Given the description of an element on the screen output the (x, y) to click on. 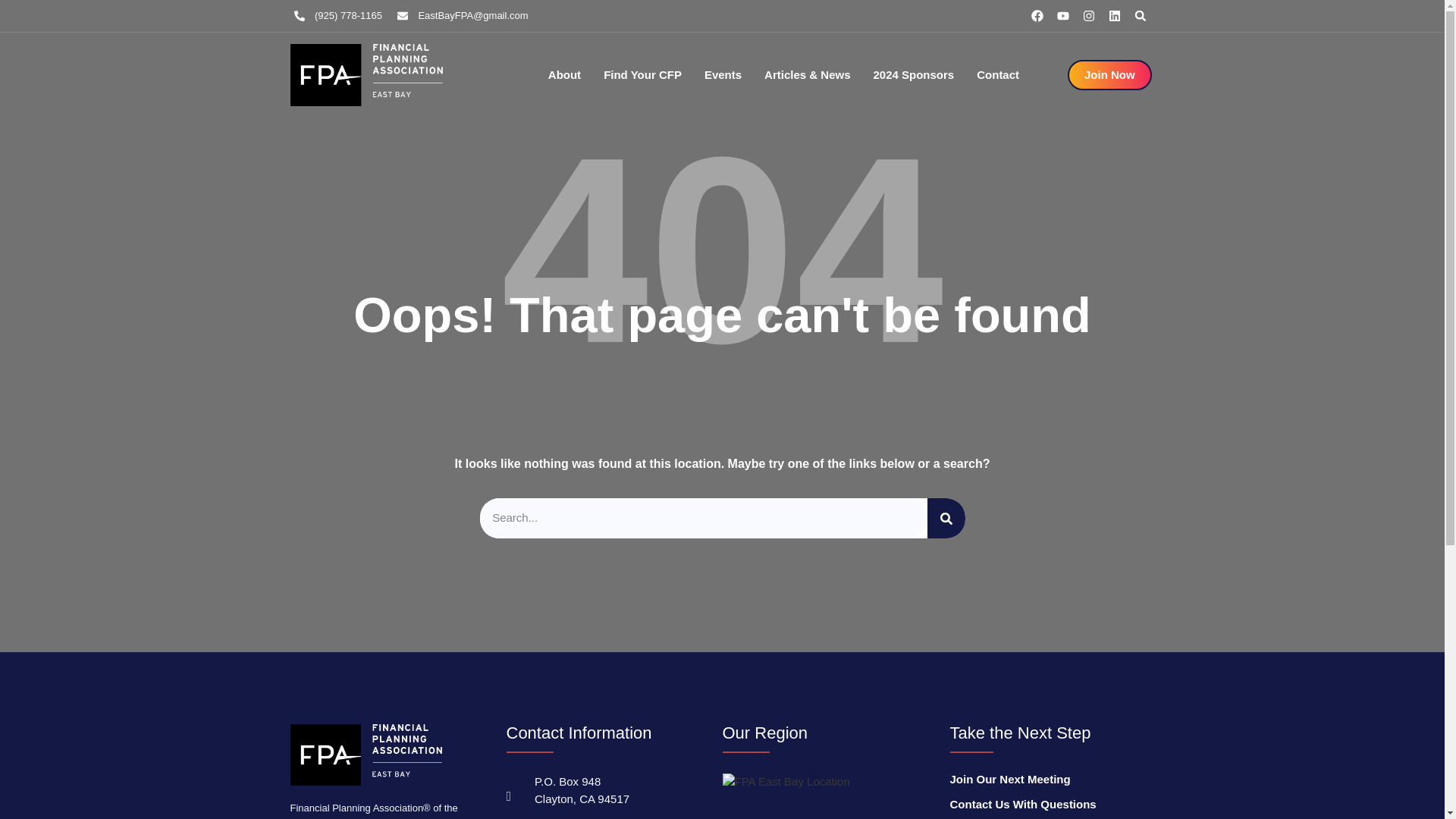
About (564, 74)
Find Your CFP (642, 74)
Events (722, 74)
FPA East Bay Location (785, 782)
Join Now (1109, 74)
2024 Sponsors (914, 74)
Contact (997, 74)
Join Our Next Meeting (1036, 779)
Contact Us With Questions (1036, 803)
